Given the description of an element on the screen output the (x, y) to click on. 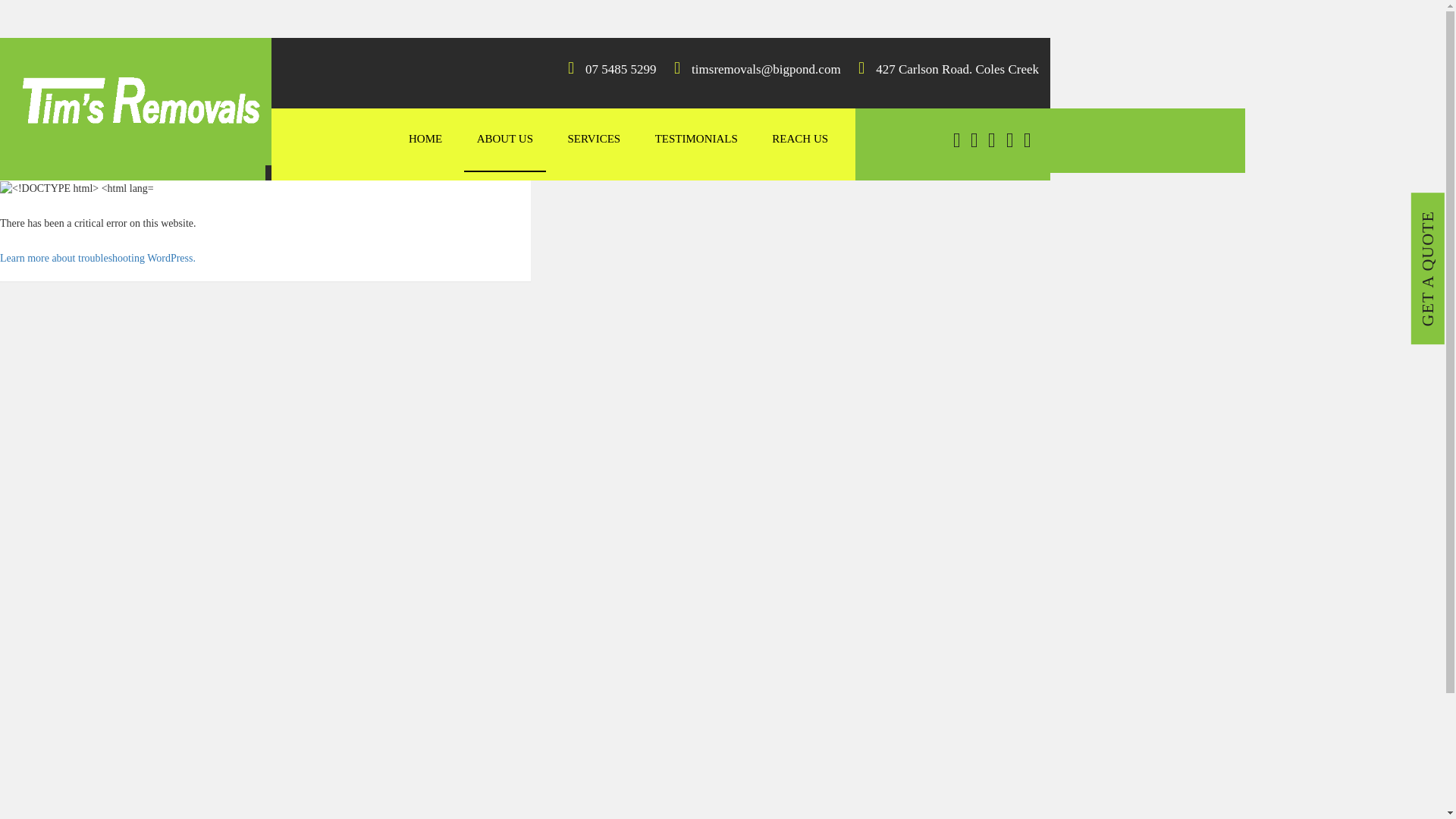
SERVICES (593, 139)
07 5485 5299 (619, 69)
ABOUT US (505, 139)
TESTIMONIALS (696, 139)
HOME (425, 139)
REACH US (799, 139)
